Given the description of an element on the screen output the (x, y) to click on. 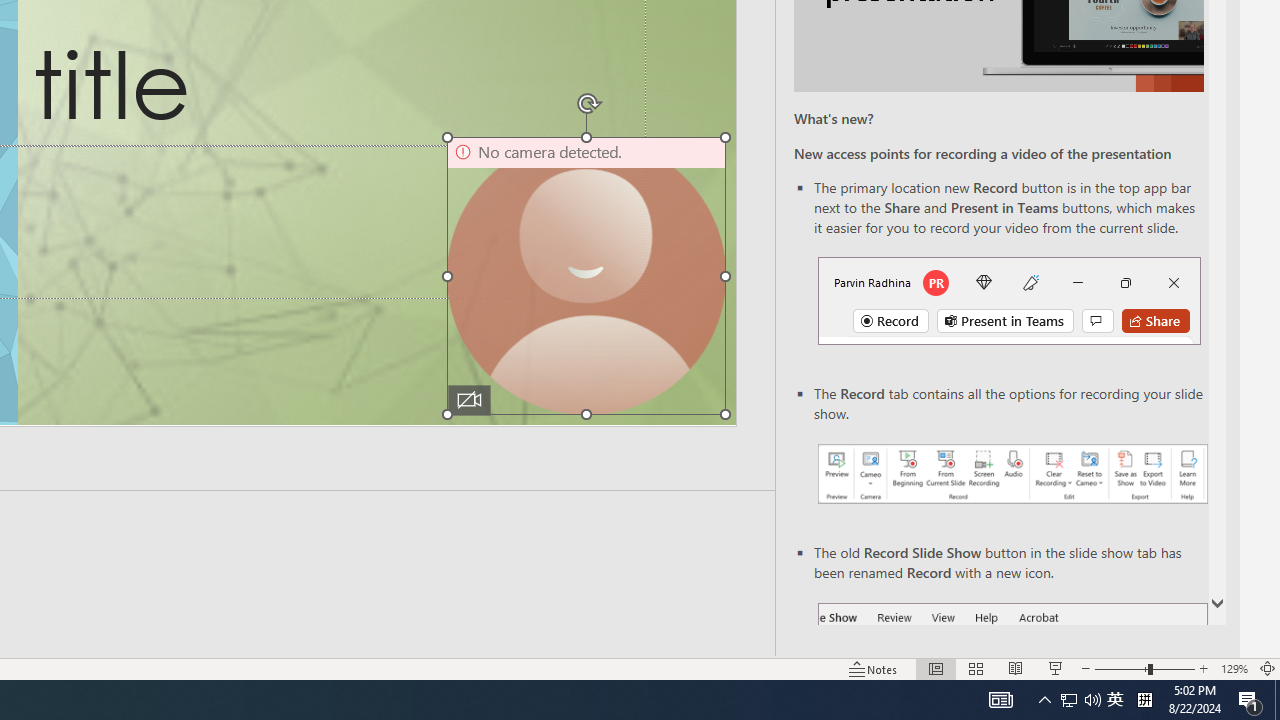
Record button in top bar (1008, 300)
Record your presentations screenshot one (1012, 473)
Zoom 129% (1234, 668)
Camera 9, No camera detected. (586, 275)
